Given the description of an element on the screen output the (x, y) to click on. 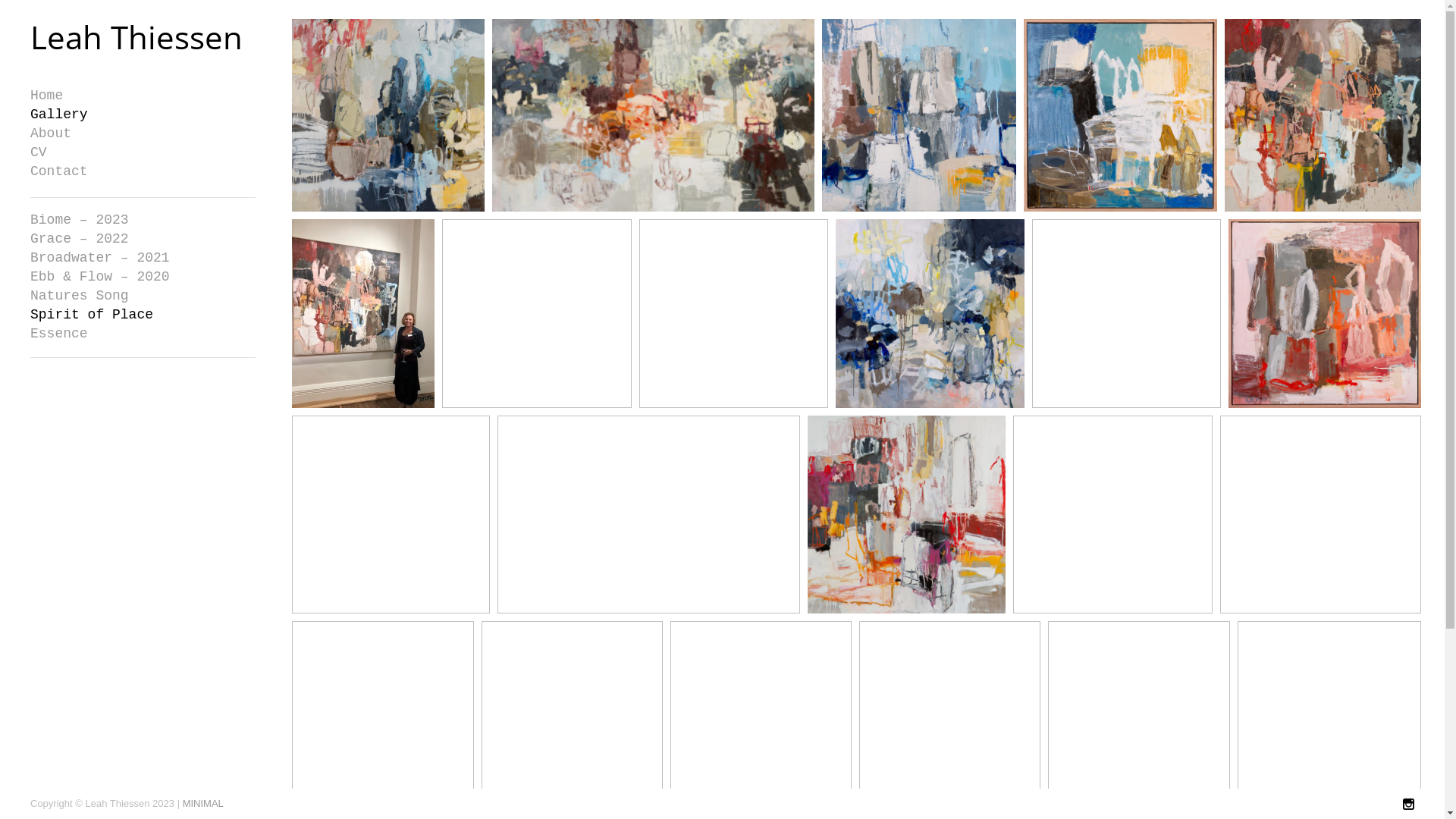
Natures Song Element type: text (142, 295)
Spirit of Place Element type: text (142, 314)
Contact Element type: text (142, 171)
MINIMAL Element type: text (202, 803)
Gallery Element type: text (142, 114)
Leah Thiessen Element type: text (142, 36)
About Element type: text (142, 133)
Essence Element type: text (142, 333)
CV Element type: text (142, 152)
Instagram Element type: hover (1408, 804)
Home Element type: text (142, 95)
